Given the description of an element on the screen output the (x, y) to click on. 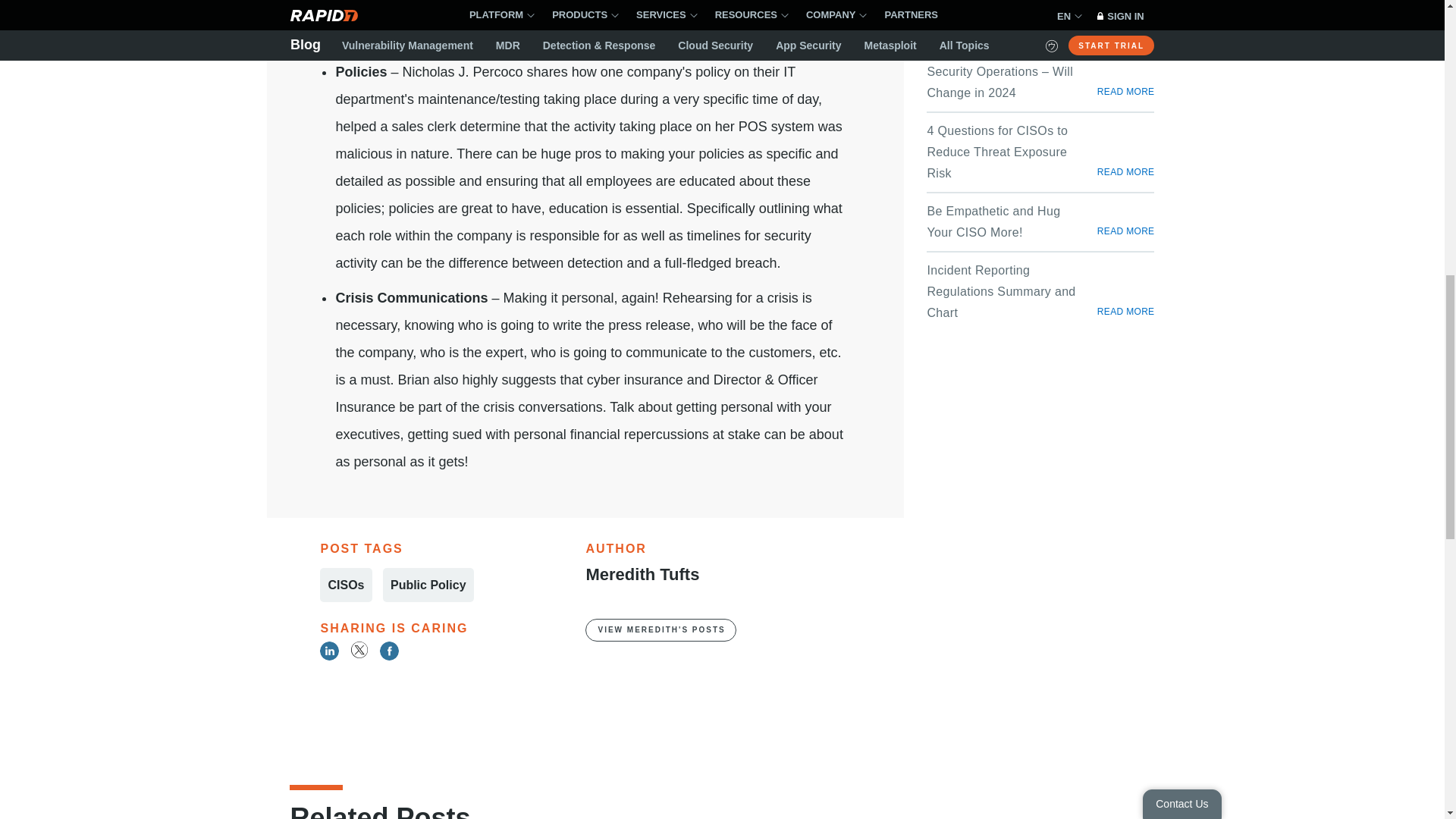
Meredith Tufts (641, 574)
CISOs (345, 585)
Public Policy (428, 585)
